Given the description of an element on the screen output the (x, y) to click on. 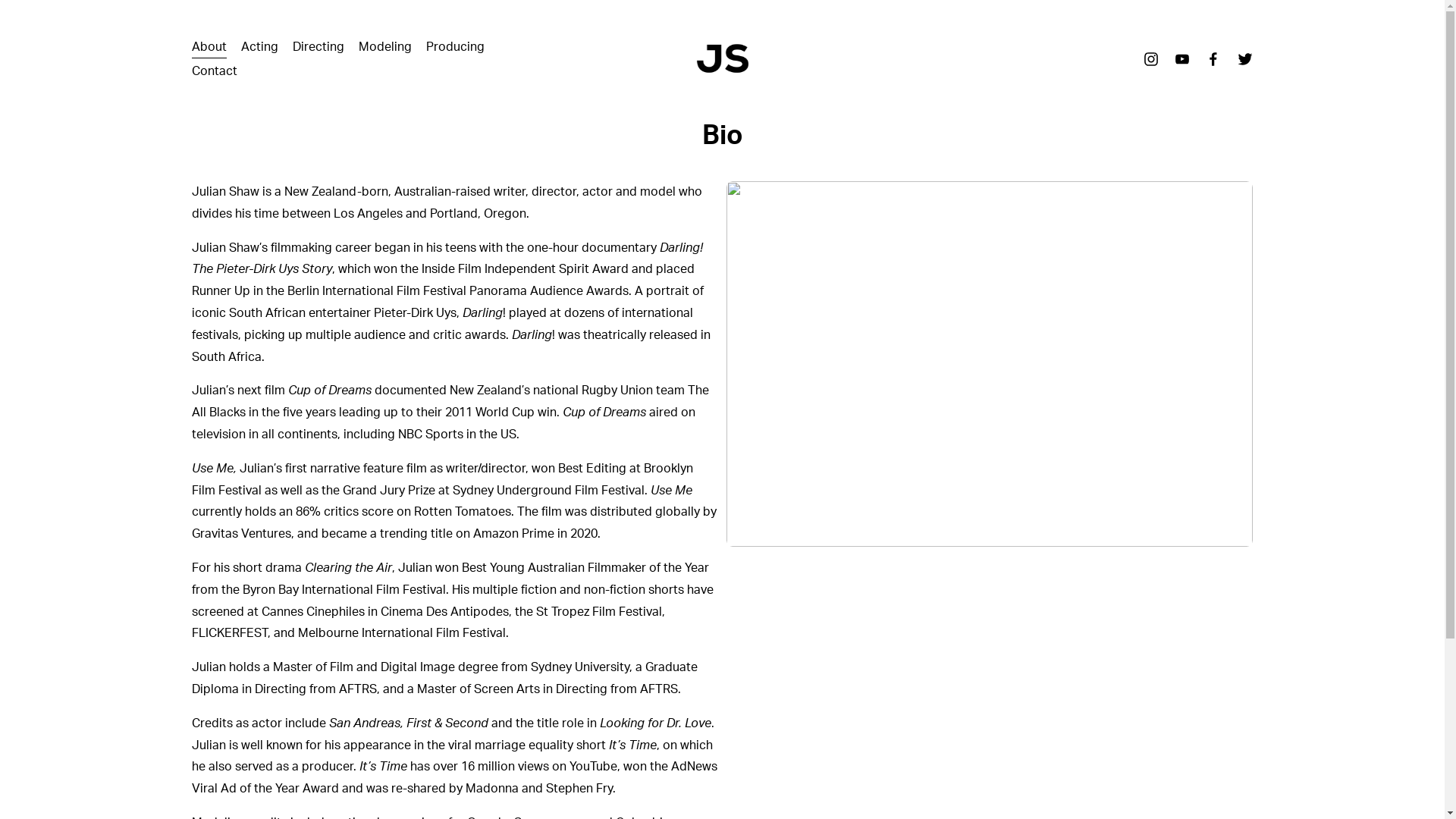
Contact Element type: text (213, 71)
Producing Element type: text (455, 46)
Acting Element type: text (259, 46)
Directing Element type: text (318, 46)
Modeling Element type: text (384, 46)
About Element type: text (208, 46)
